Given the description of an element on the screen output the (x, y) to click on. 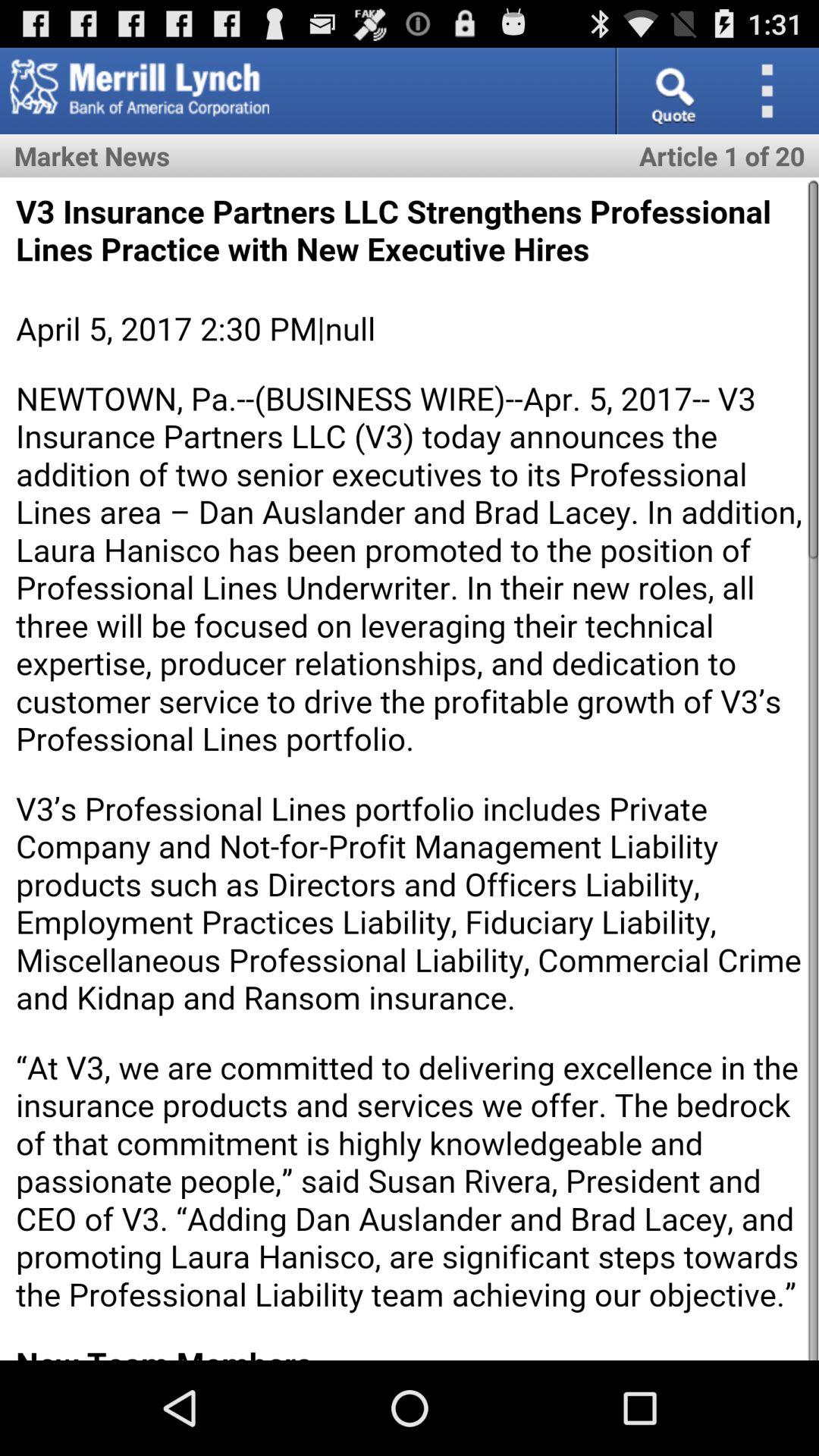
overflow action button (772, 90)
